Given the description of an element on the screen output the (x, y) to click on. 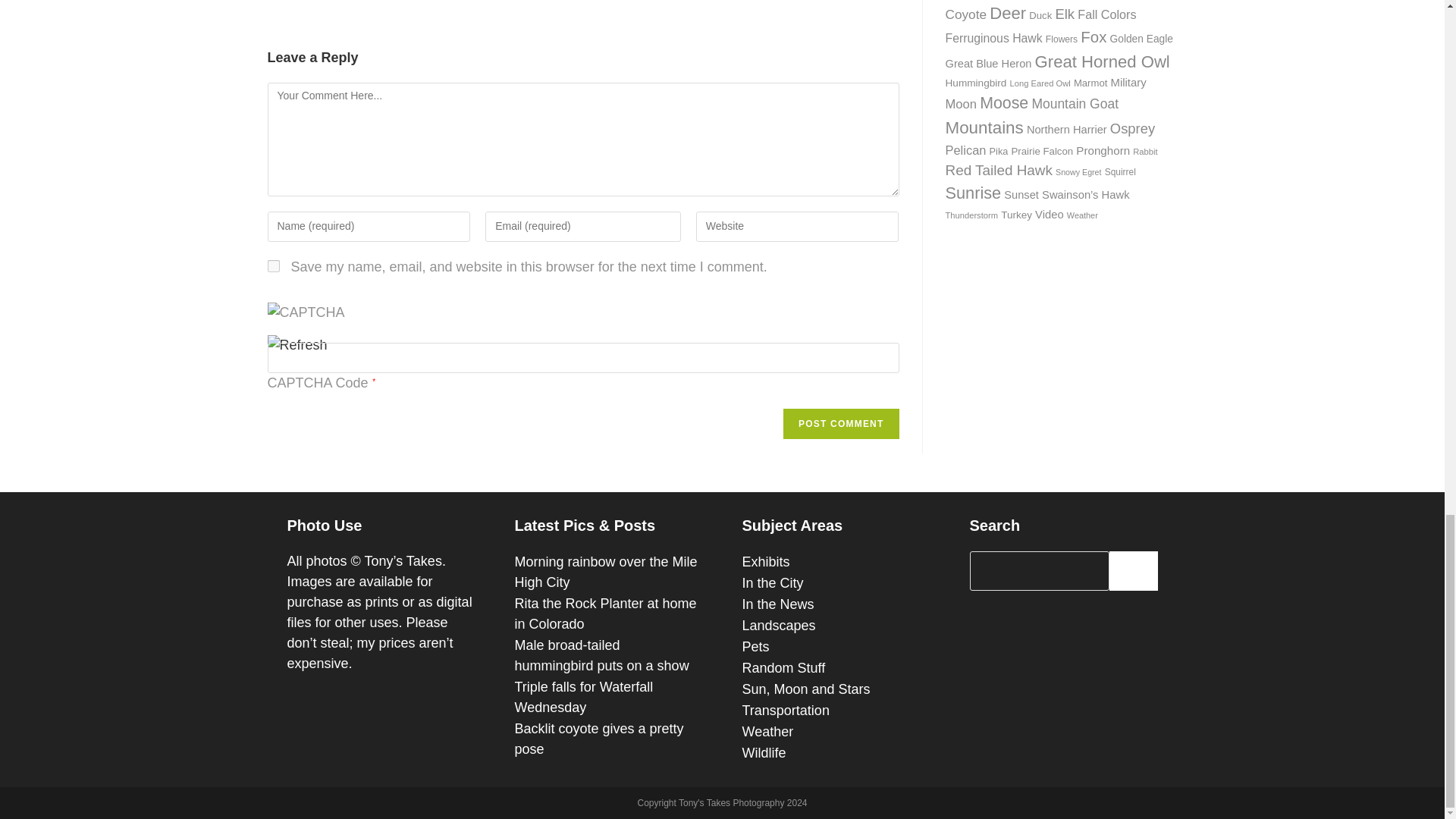
CAPTCHA (316, 318)
Refresh (296, 344)
Post Comment (840, 423)
Post Comment (840, 423)
yes (272, 265)
